Given the description of an element on the screen output the (x, y) to click on. 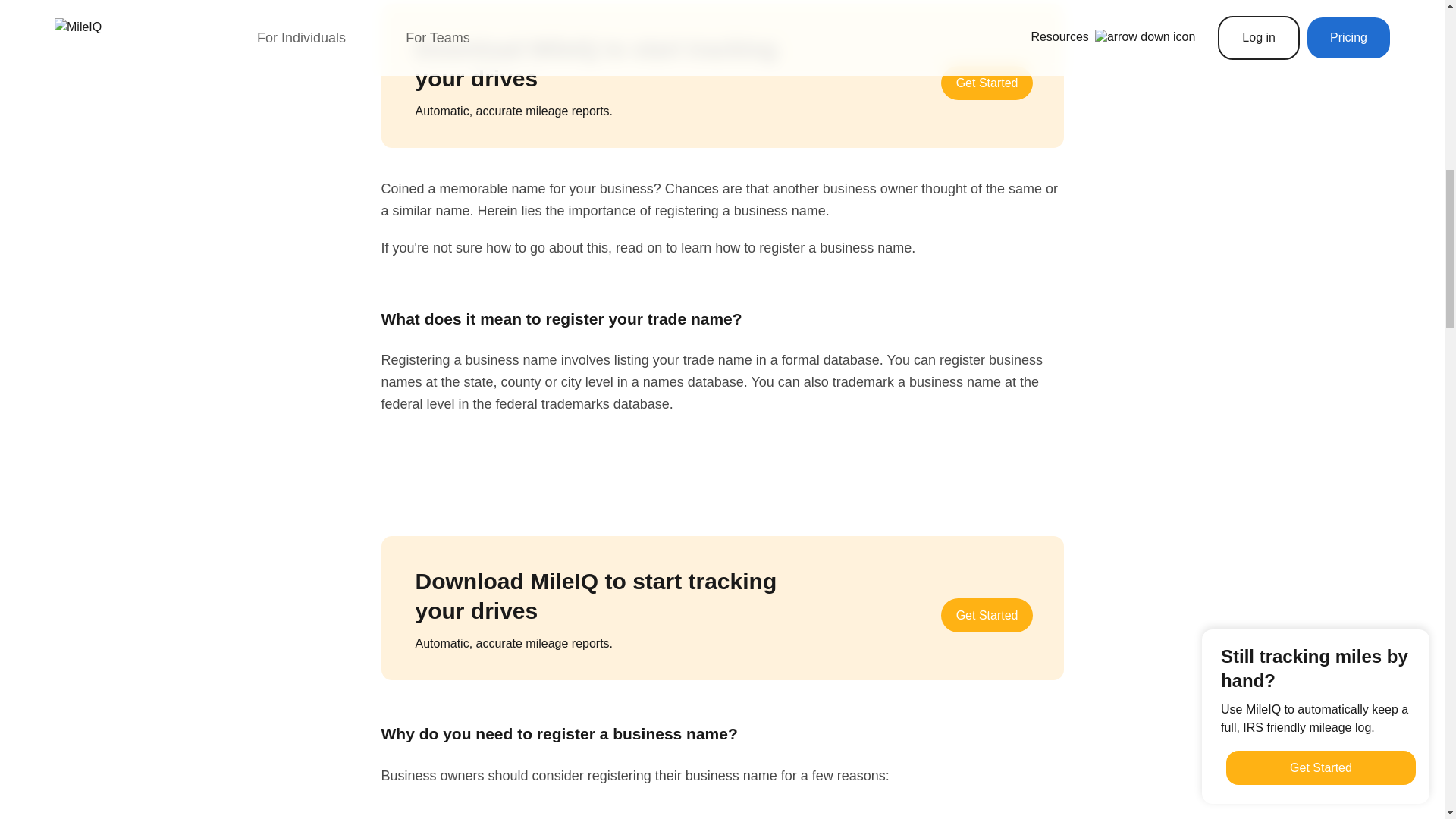
business name (511, 359)
Get Started (986, 82)
Get Started (986, 615)
